Given the description of an element on the screen output the (x, y) to click on. 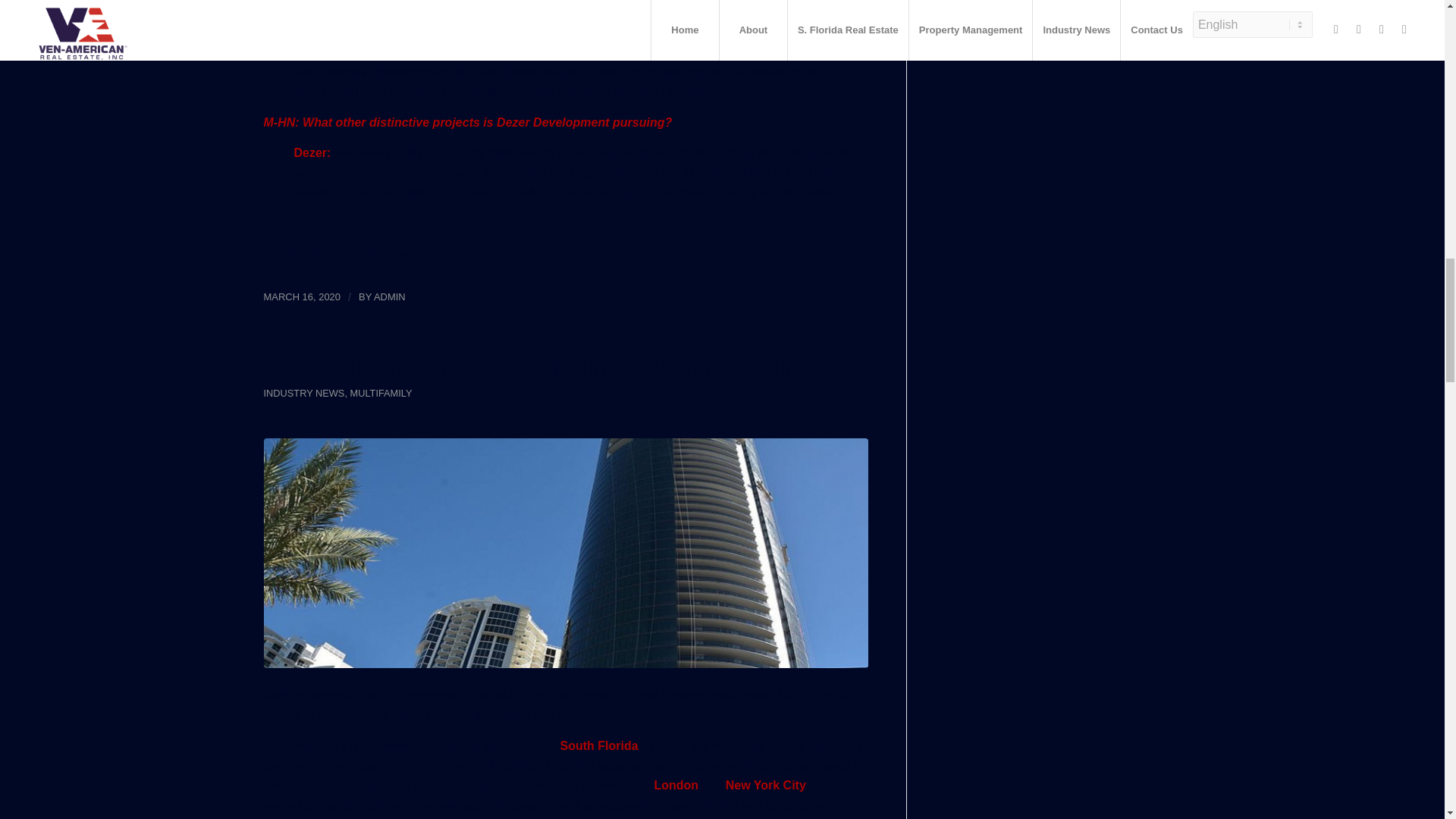
INDUSTRY NEWS (304, 392)
ADMIN (390, 296)
Permanent Link: For High-End Branded Buildings, Miami Reigns (534, 366)
Posts by ADMIN (390, 296)
Multi-Housing News (362, 252)
For High-End Branded Buildings, Miami Reigns (534, 366)
MULTIFAMILY (381, 392)
